Given the description of an element on the screen output the (x, y) to click on. 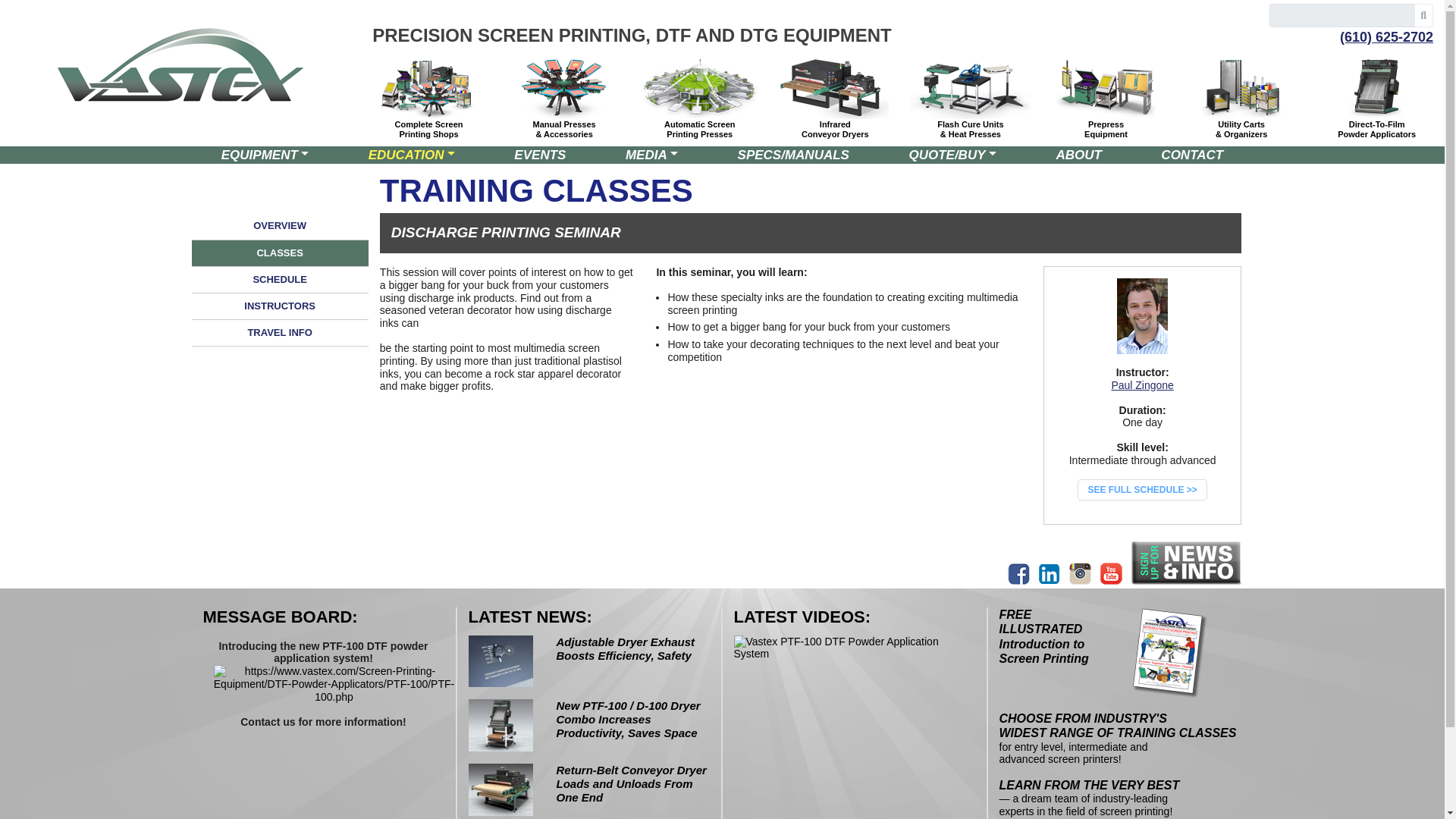
EQUIPMENT (265, 155)
